Given the description of an element on the screen output the (x, y) to click on. 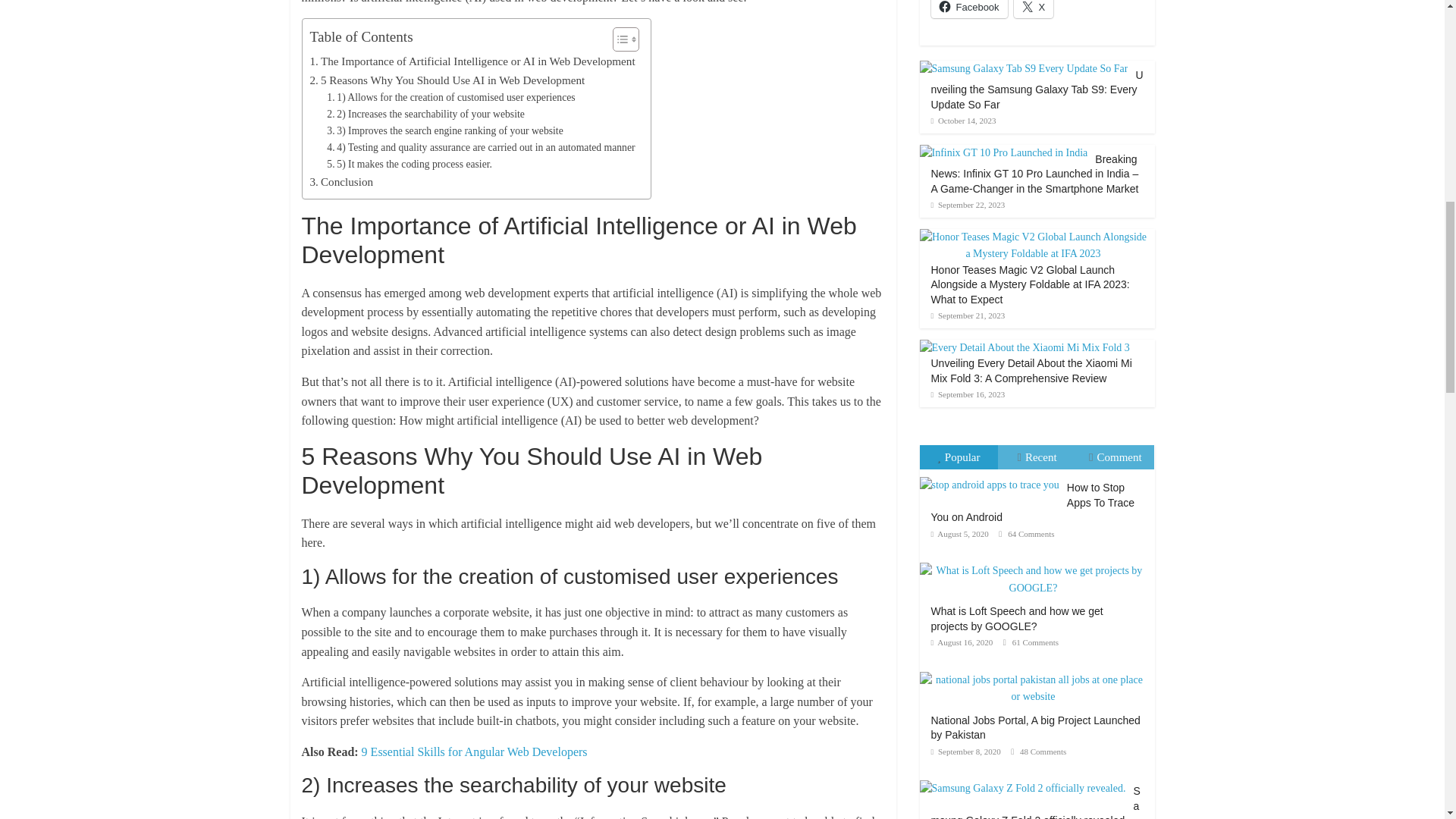
5 Reasons Why You Should Use AI in Web Development (446, 80)
5 Reasons Why You Should Use AI in Web Development (446, 80)
